Given the description of an element on the screen output the (x, y) to click on. 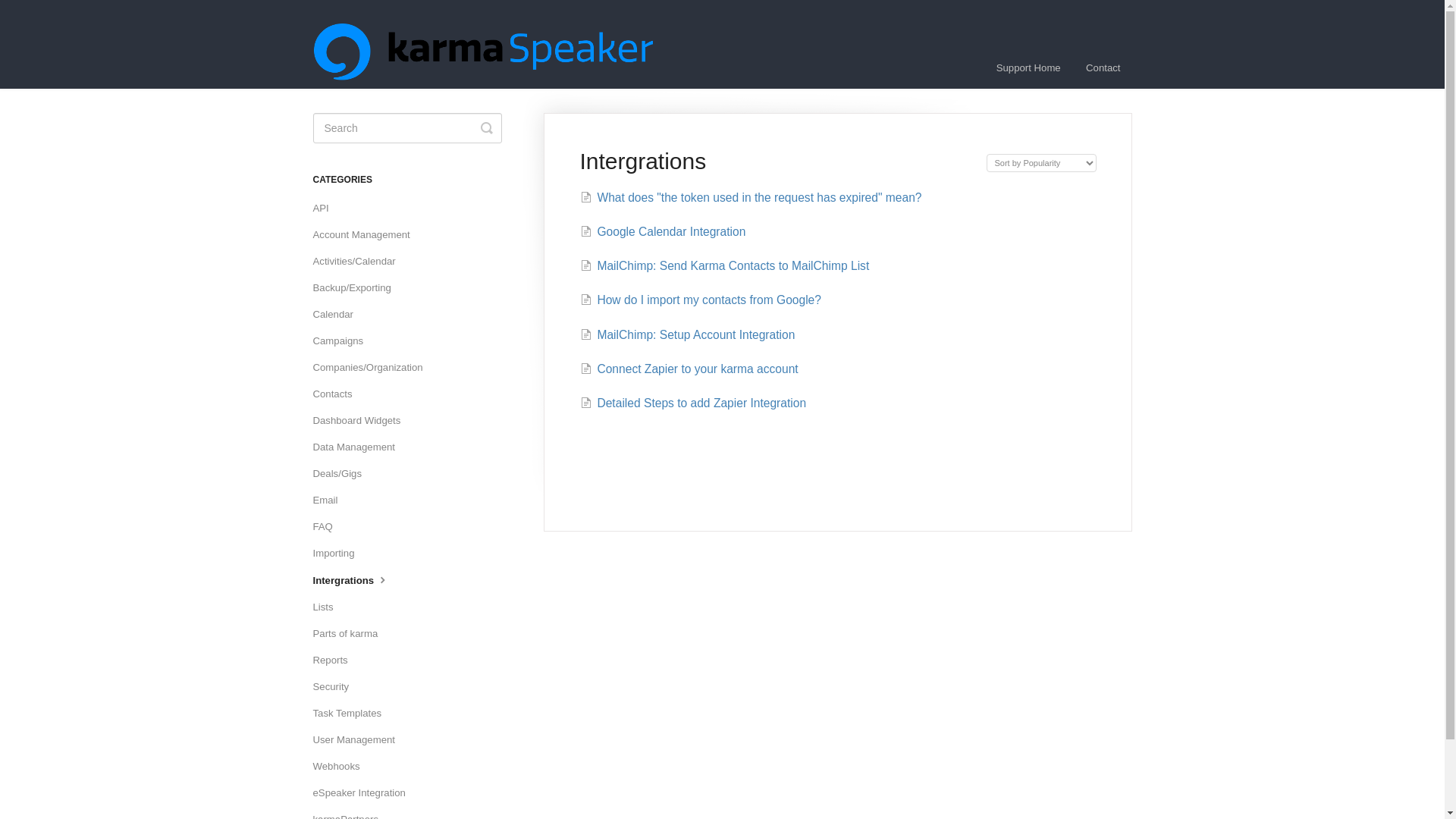
Task Templates (353, 713)
MailChimp: Send Karma Contacts to MailChimp List (724, 265)
sort-by (1040, 162)
Intergrations (357, 580)
MailChimp: Setup Account Integration (686, 334)
Lists (328, 607)
Security (336, 686)
Google Calendar Integration (662, 231)
Detailed Steps to add Zapier Integration (692, 402)
User Management (359, 740)
